Given the description of an element on the screen output the (x, y) to click on. 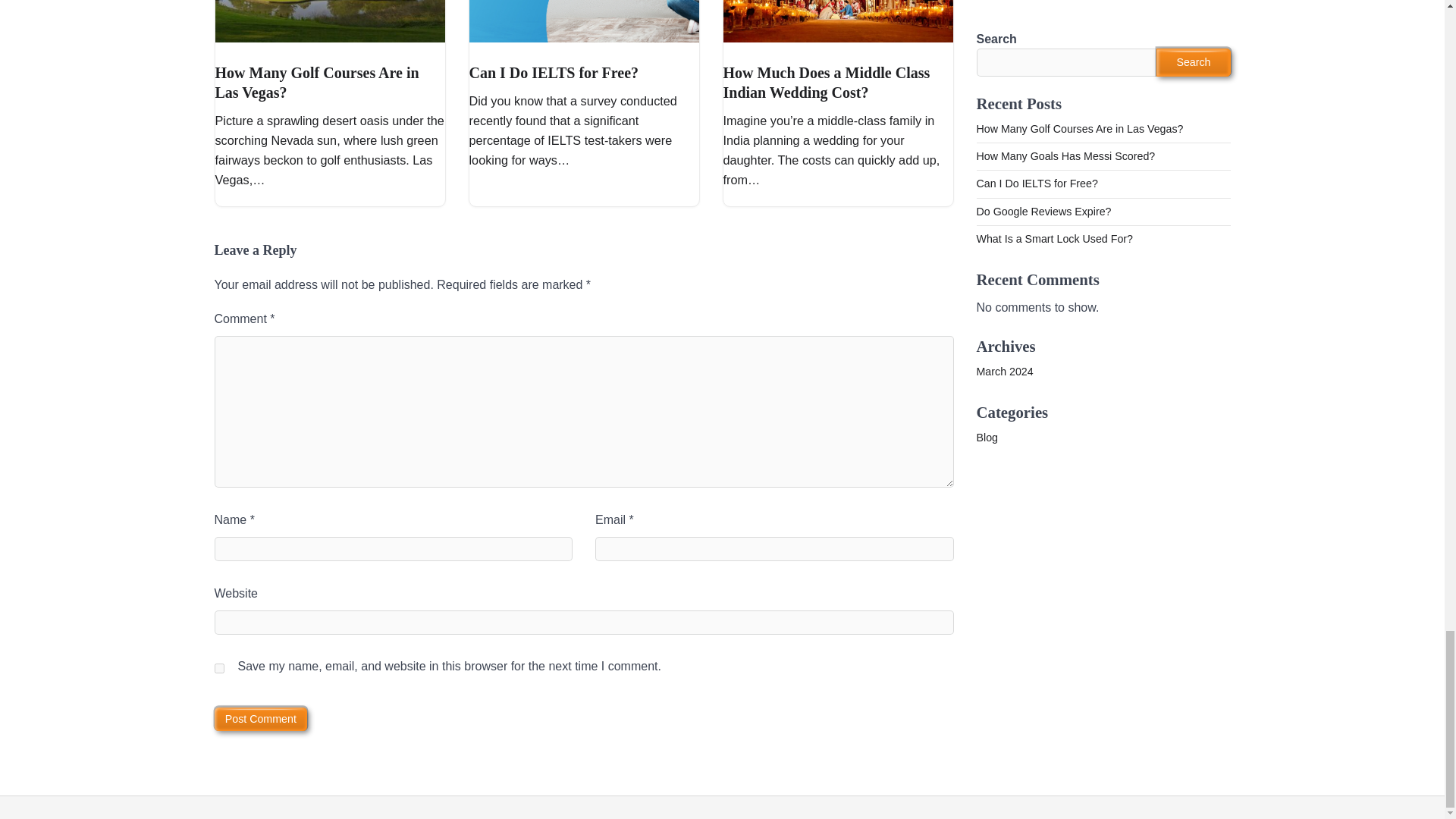
Can I Do IELTS for Free? (553, 72)
Post Comment (260, 719)
Post Comment (260, 719)
How Many Golf Courses Are in Las Vegas? (317, 82)
yes (219, 668)
How Much Does a Middle Class Indian Wedding Cost? (826, 82)
